Given the description of an element on the screen output the (x, y) to click on. 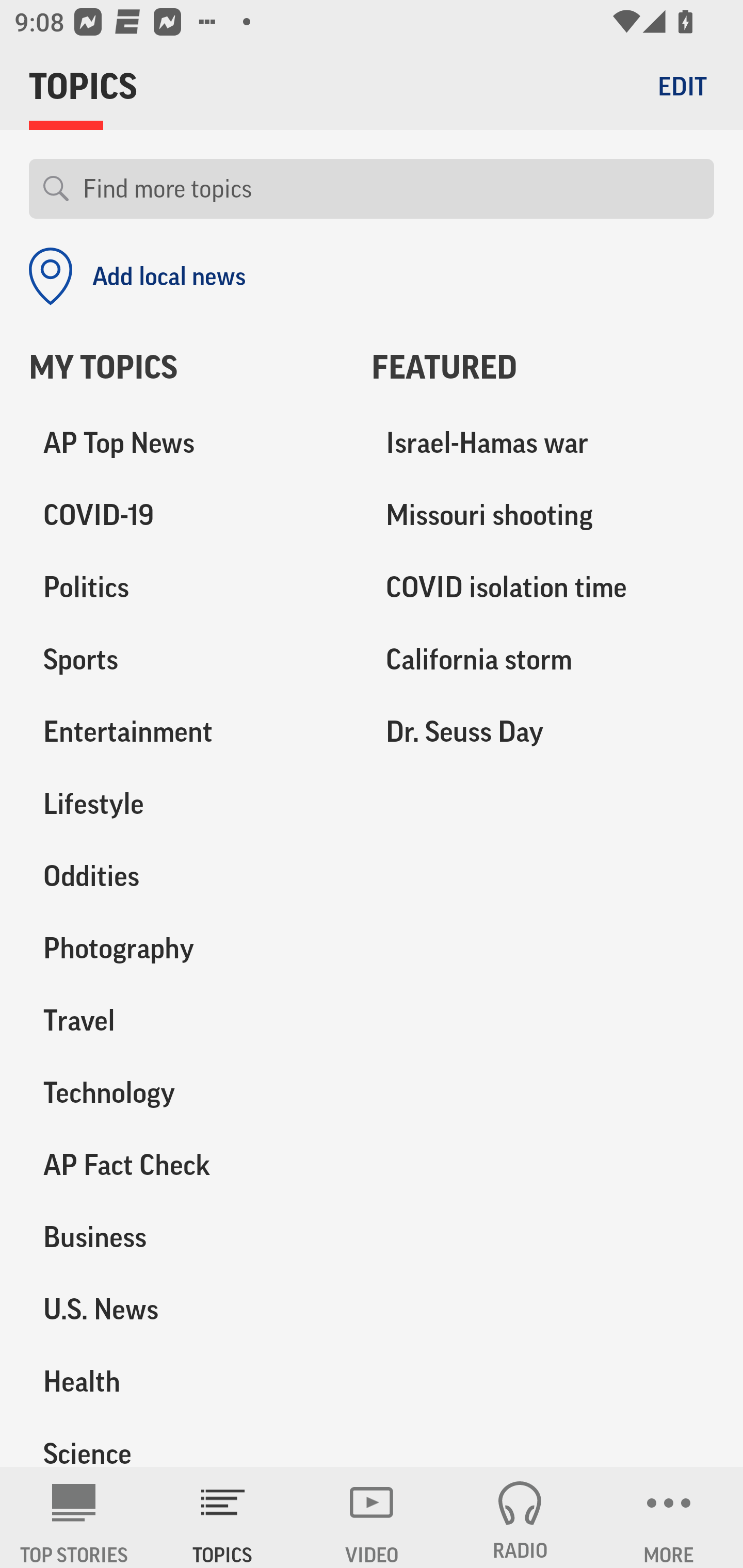
EDIT (682, 86)
Find more topics (391, 188)
Add local news (137, 276)
AP Top News (185, 443)
Israel-Hamas war (542, 443)
COVID-19 (185, 515)
Missouri shooting (542, 515)
Politics (185, 587)
COVID isolation time (542, 587)
Sports (185, 660)
California storm (542, 660)
Entertainment (185, 732)
Dr. Seuss Day (542, 732)
Lifestyle (185, 804)
Oddities (185, 876)
Photography (185, 948)
Travel (185, 1020)
Technology (185, 1092)
AP Fact Check (185, 1164)
Business (185, 1237)
U.S. News (185, 1309)
Health (185, 1381)
Science (185, 1442)
AP News TOP STORIES (74, 1517)
TOPICS (222, 1517)
VIDEO (371, 1517)
RADIO (519, 1517)
MORE (668, 1517)
